Given the description of an element on the screen output the (x, y) to click on. 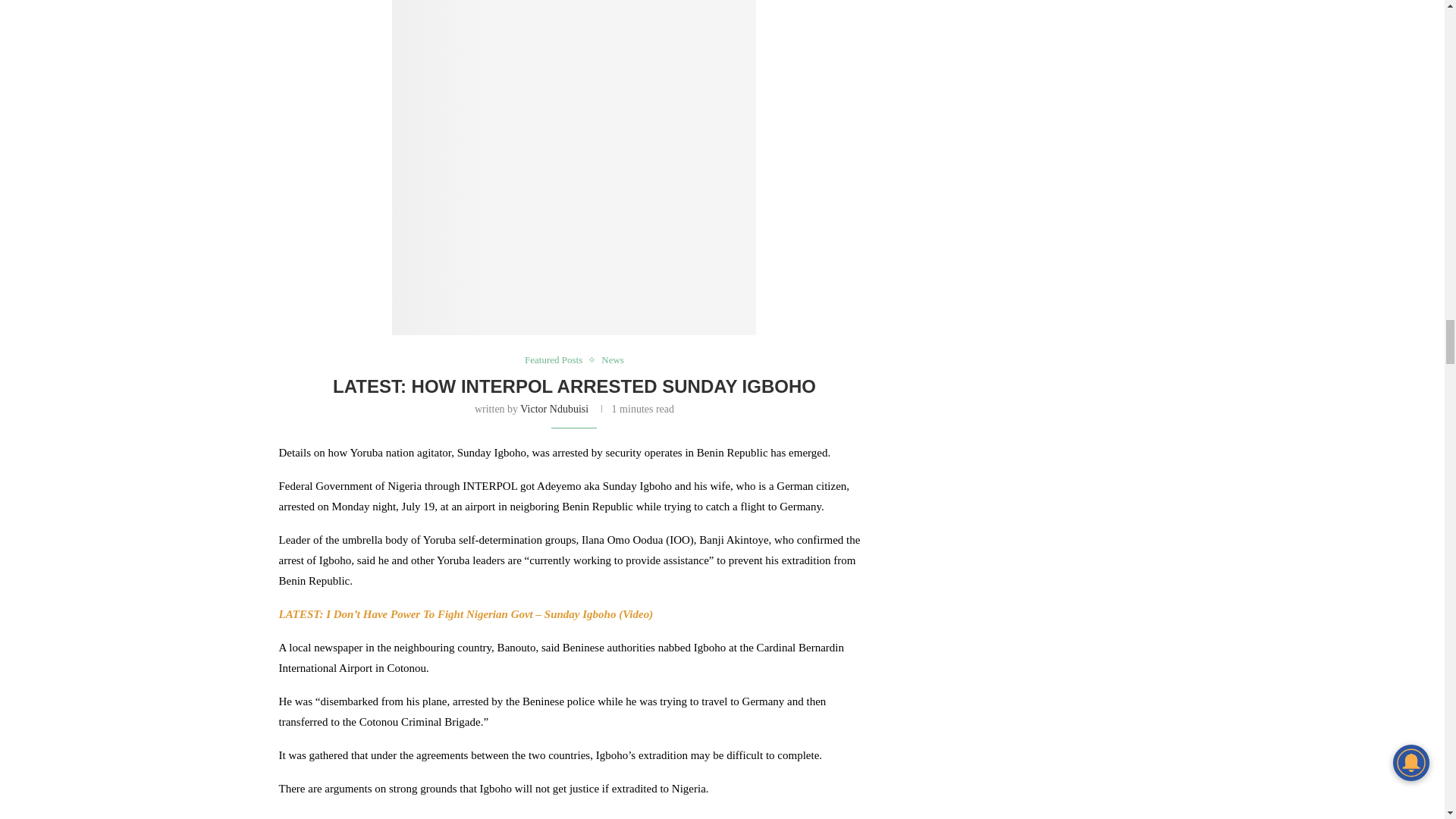
Sunday Igboho (573, 169)
